Given the description of an element on the screen output the (x, y) to click on. 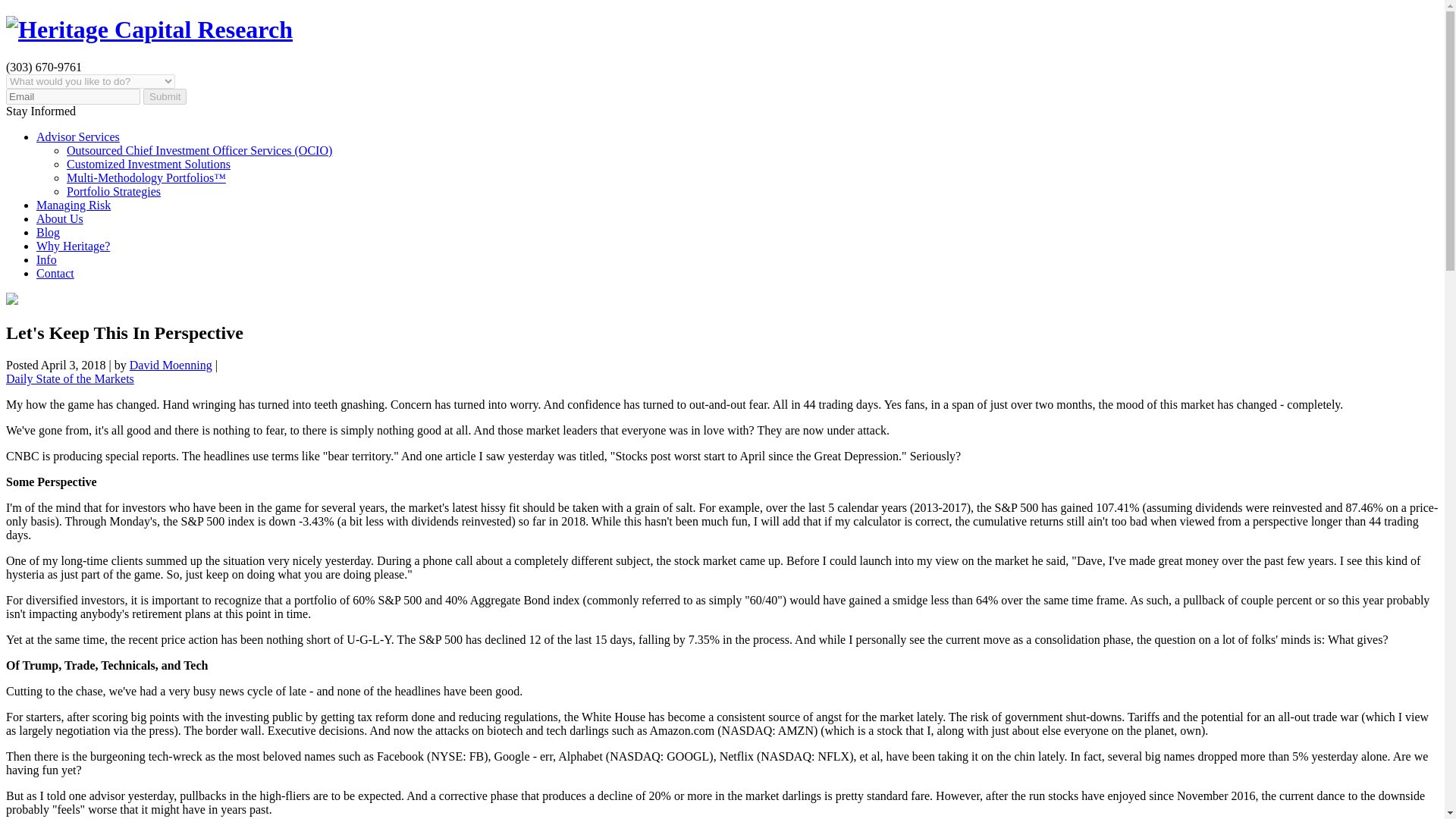
Submit (164, 96)
Blog (47, 232)
Managing Risk (73, 205)
Stay Informed (40, 110)
Contact (55, 273)
Why Heritage? (73, 245)
Daily State of the Markets (69, 378)
Submit (164, 96)
Portfolio Strategies (113, 191)
Info (46, 259)
Customized Investment Solutions (148, 164)
Advisor Services (77, 136)
David Moenning (170, 364)
About Us (59, 218)
